Given the description of an element on the screen output the (x, y) to click on. 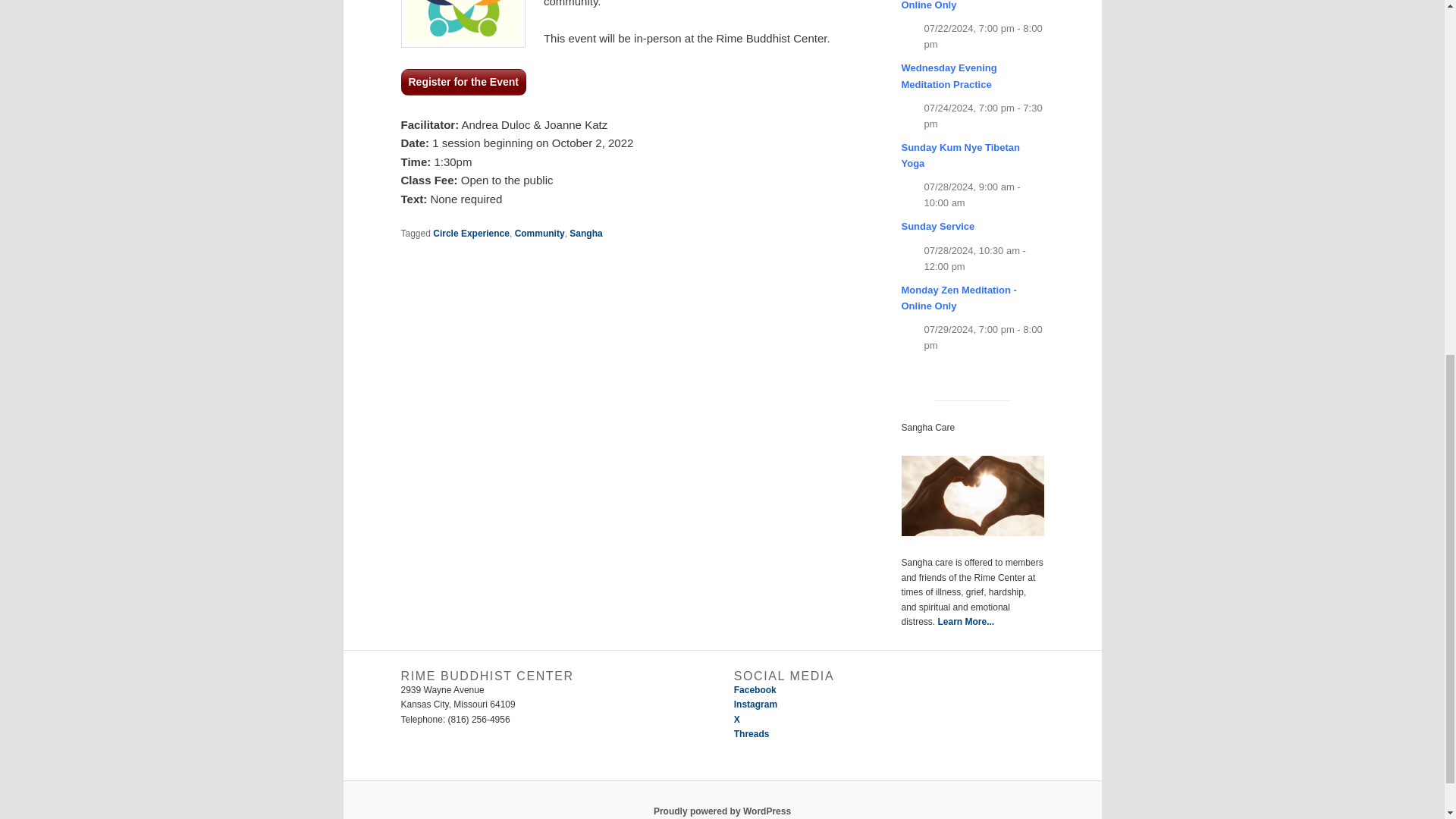
Semantic Personal Publishing Platform (721, 810)
